Given the description of an element on the screen output the (x, y) to click on. 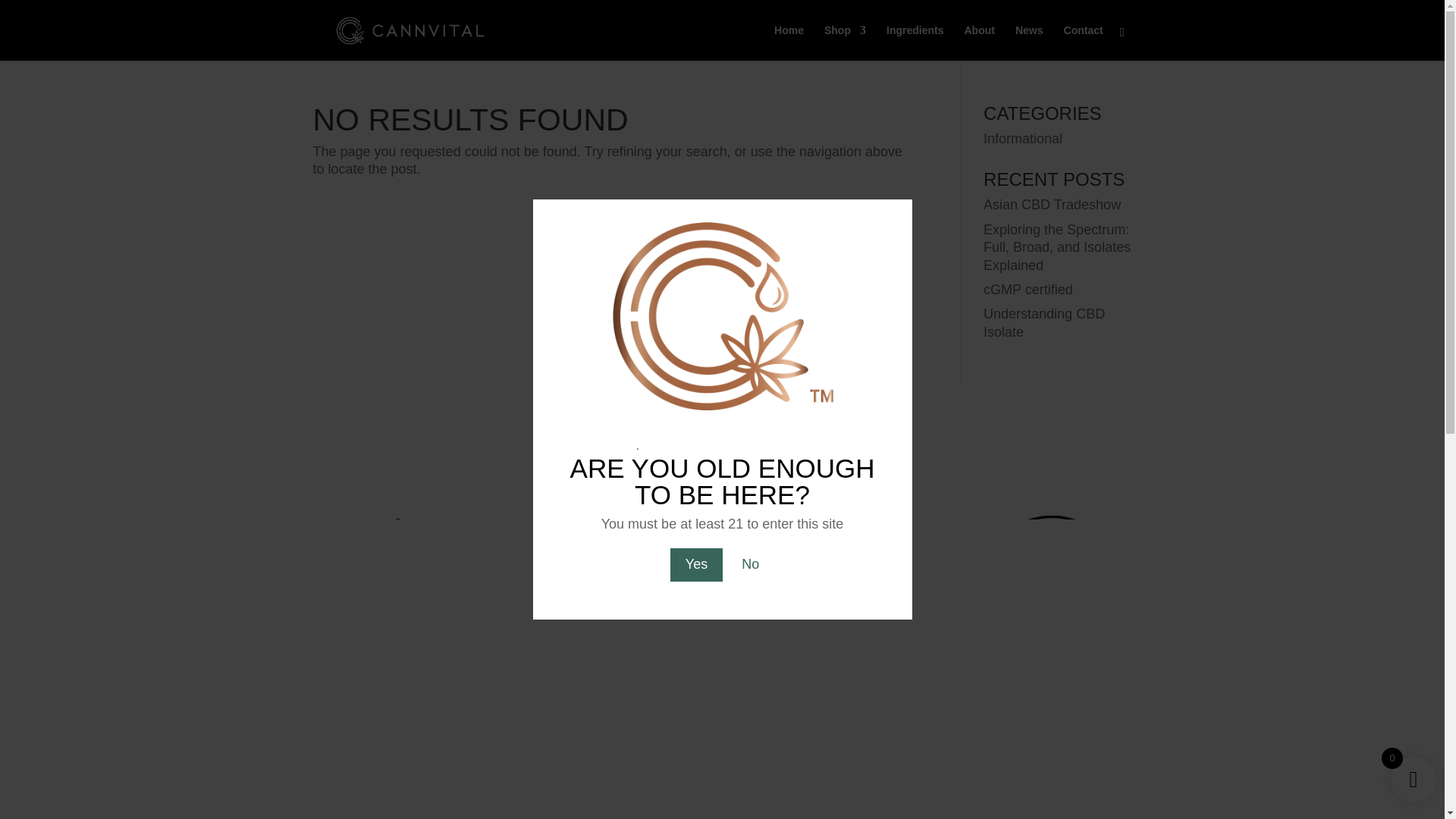
Ingredients (914, 42)
Contact (1083, 42)
No (750, 563)
Informational (1023, 138)
Yes (695, 563)
Shop (845, 42)
Exploring the Spectrum: Full, Broad, and Isolates Explained (1057, 246)
Understanding CBD Isolate (1044, 322)
Asian CBD Tradeshow (1052, 204)
cGMP certified (1028, 289)
